Given the description of an element on the screen output the (x, y) to click on. 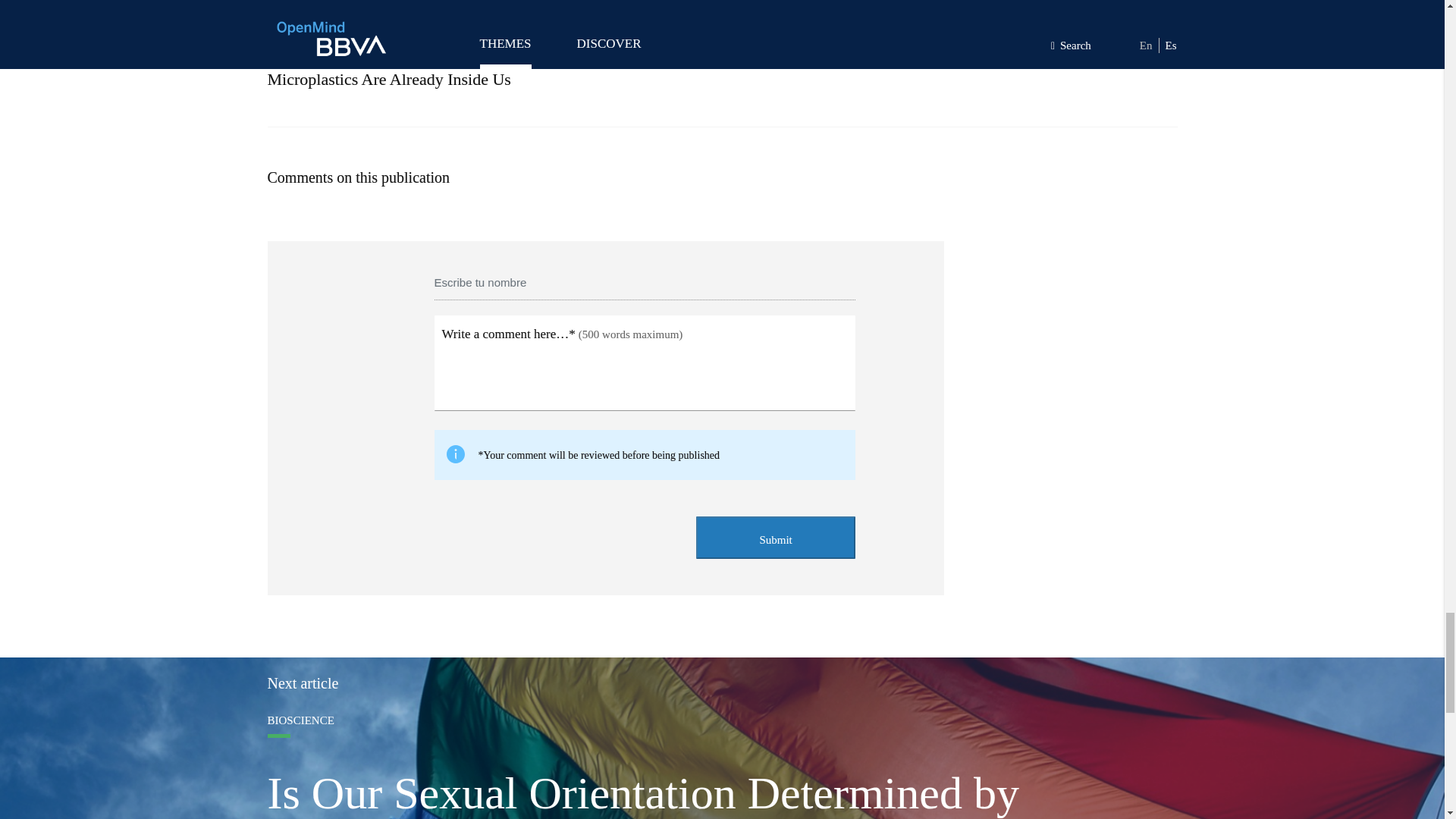
Research (721, 39)
